Given the description of an element on the screen output the (x, y) to click on. 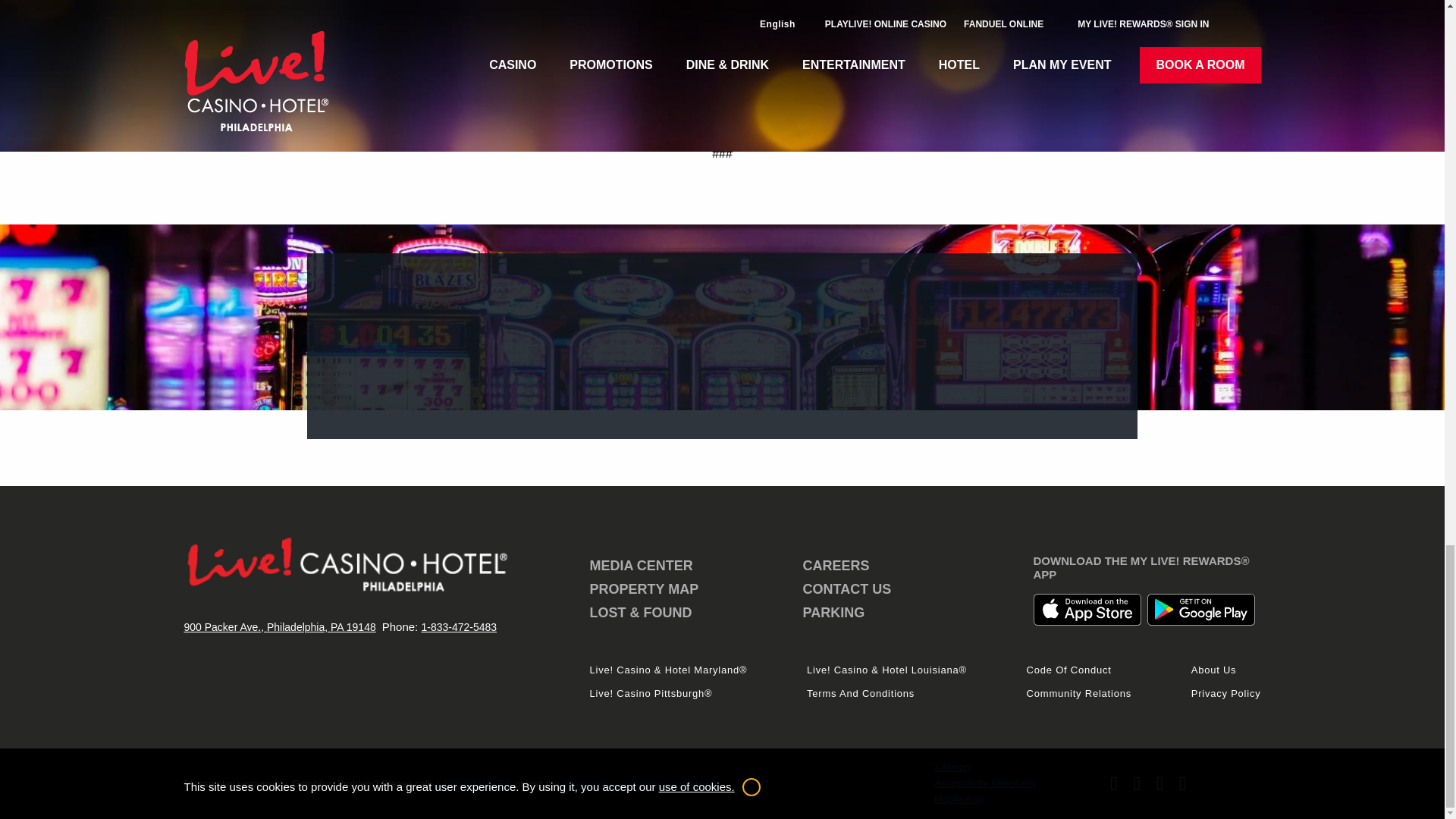
Parking (833, 612)
Property Map (643, 589)
Lost and Found (641, 612)
Live! Casino Pittsburgh (651, 693)
